Given the description of an element on the screen output the (x, y) to click on. 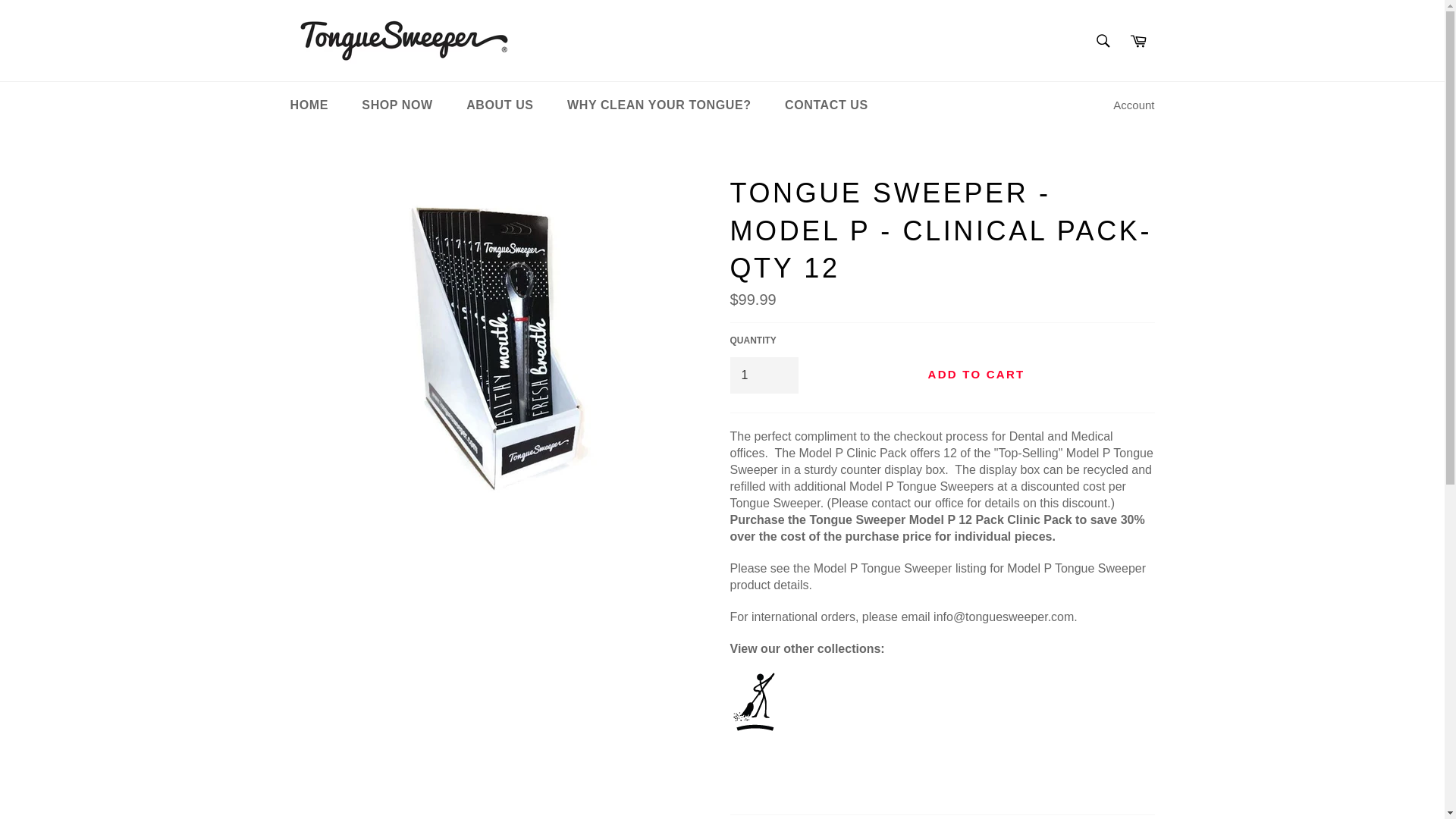
HOME (308, 104)
All Tongue Sweepers (790, 758)
Account (1133, 105)
All Tongue Sweepers (790, 758)
ABOUT US (499, 104)
All Tongue Sweepers (753, 726)
SHOP NOW (396, 104)
CONTACT US (826, 104)
ADD TO CART (976, 375)
Search (1103, 40)
WHY CLEAN YOUR TONGUE? (659, 104)
1 (763, 375)
Cart (1138, 40)
